Given the description of an element on the screen output the (x, y) to click on. 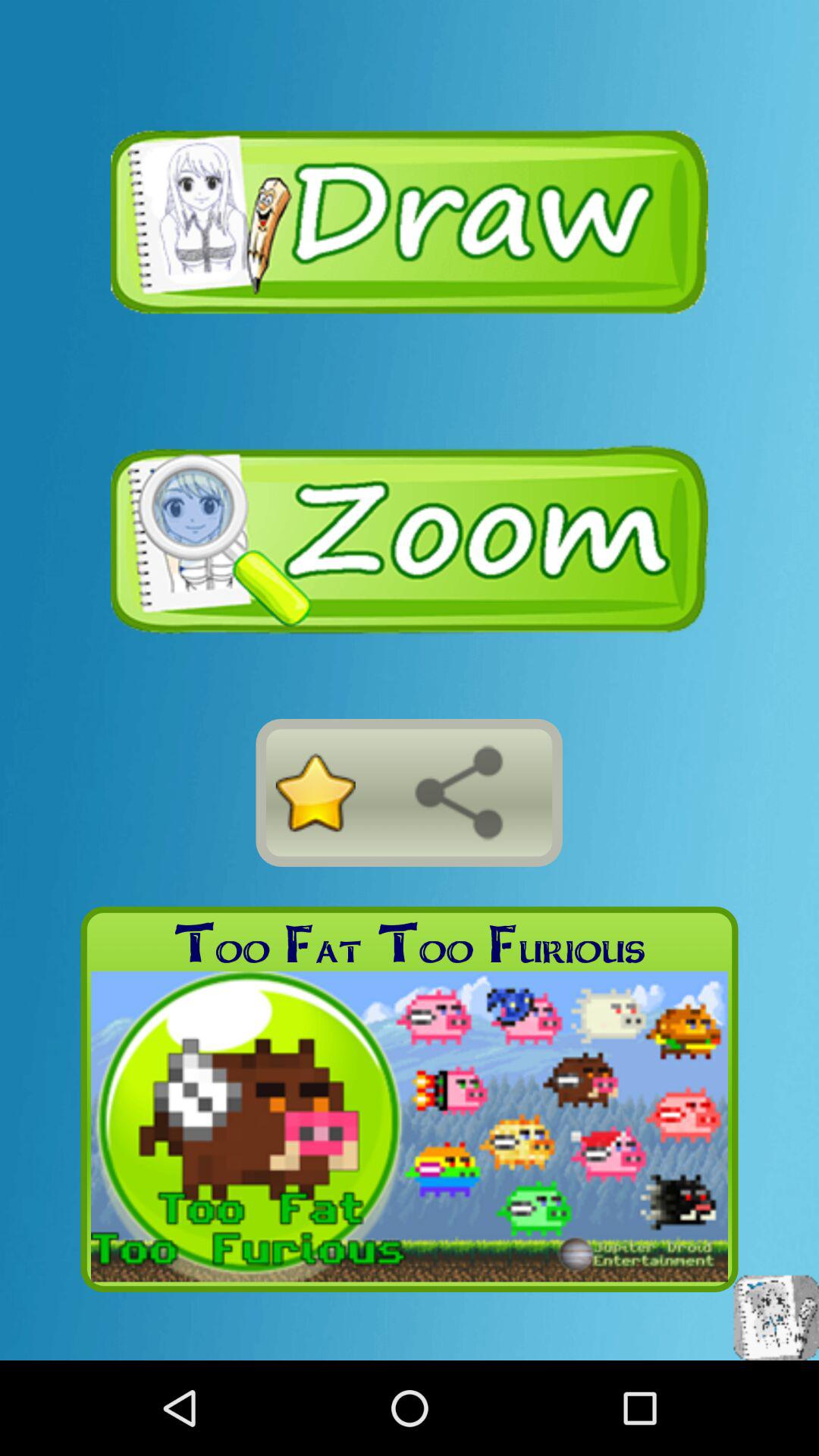
share this (458, 792)
